Given the description of an element on the screen output the (x, y) to click on. 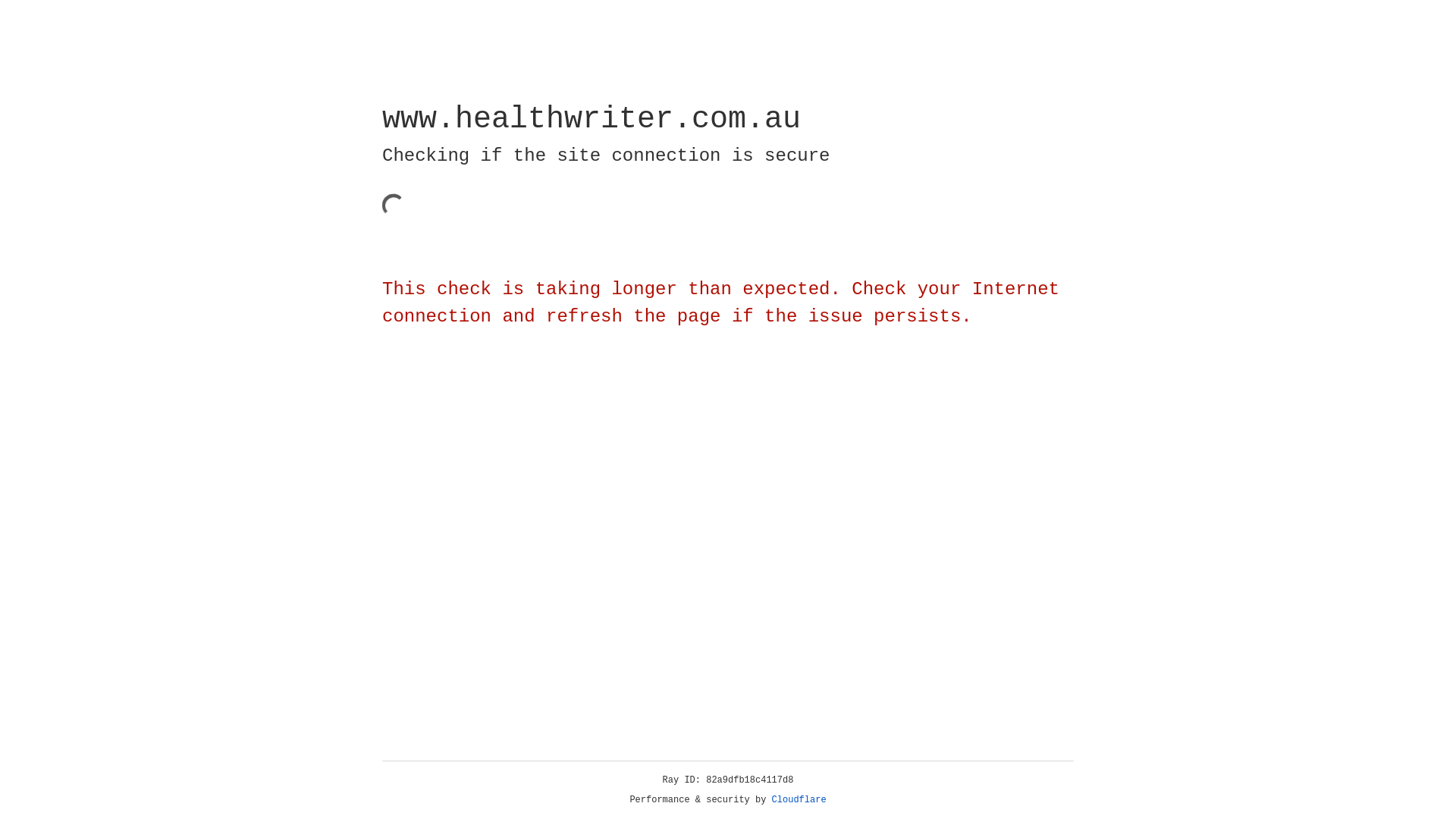
Cloudflare Element type: text (798, 799)
